Given the description of an element on the screen output the (x, y) to click on. 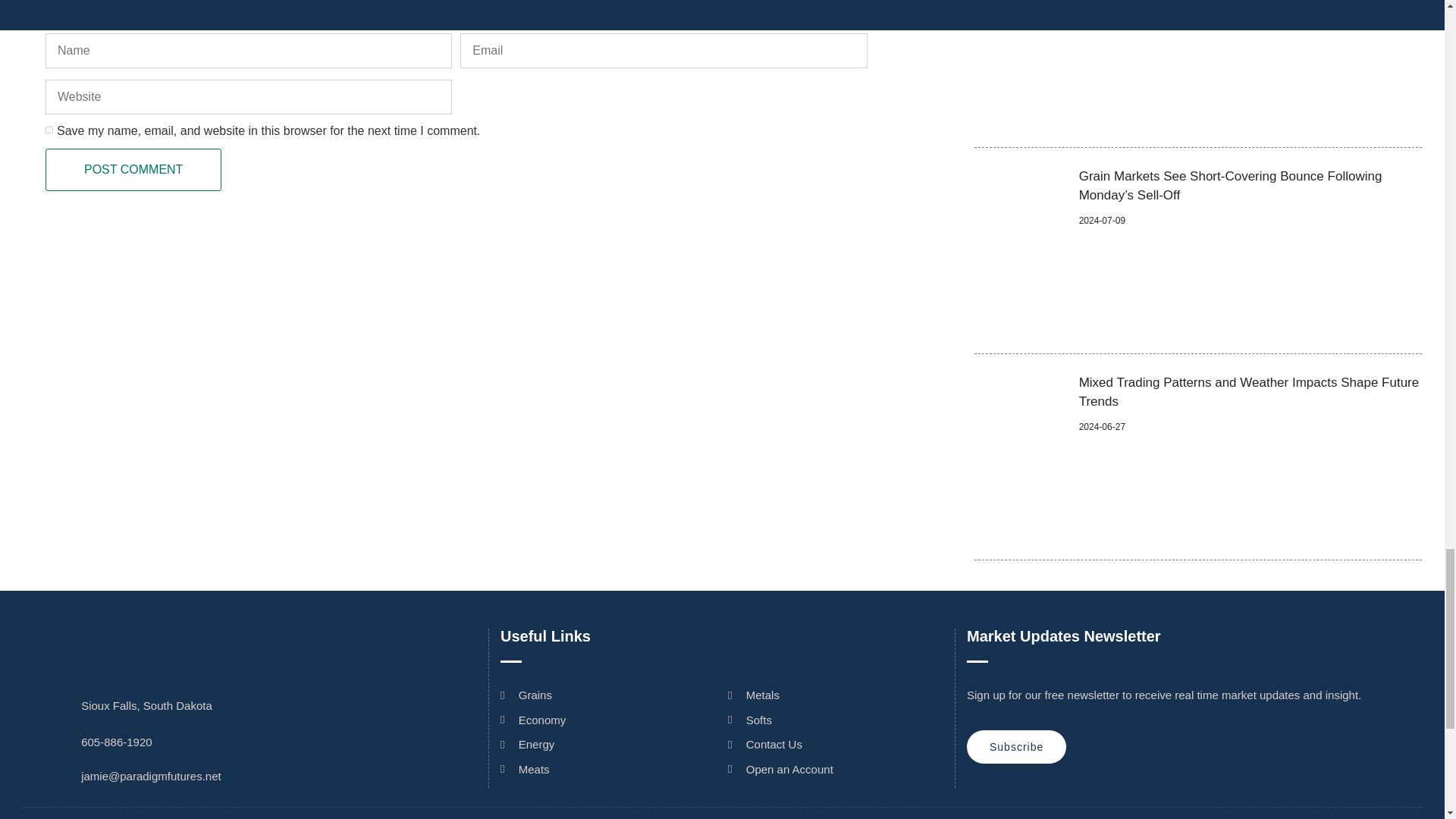
Post Comment (133, 169)
